Given the description of an element on the screen output the (x, y) to click on. 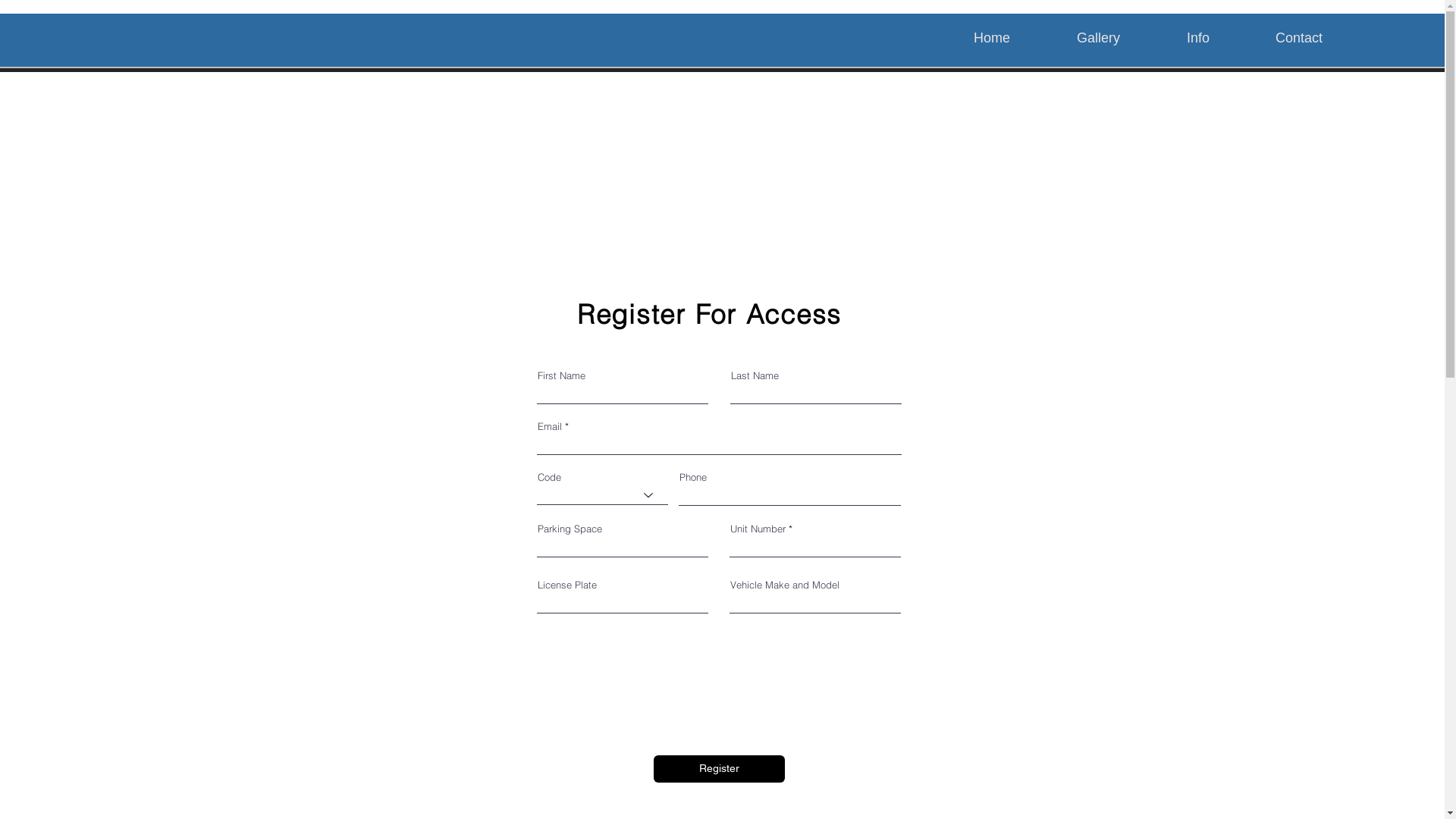
Home Element type: text (1013, 37)
Info Element type: text (1219, 37)
Contact Element type: text (1320, 37)
Register Element type: text (718, 768)
Gallery Element type: text (1120, 37)
